Given the description of an element on the screen output the (x, y) to click on. 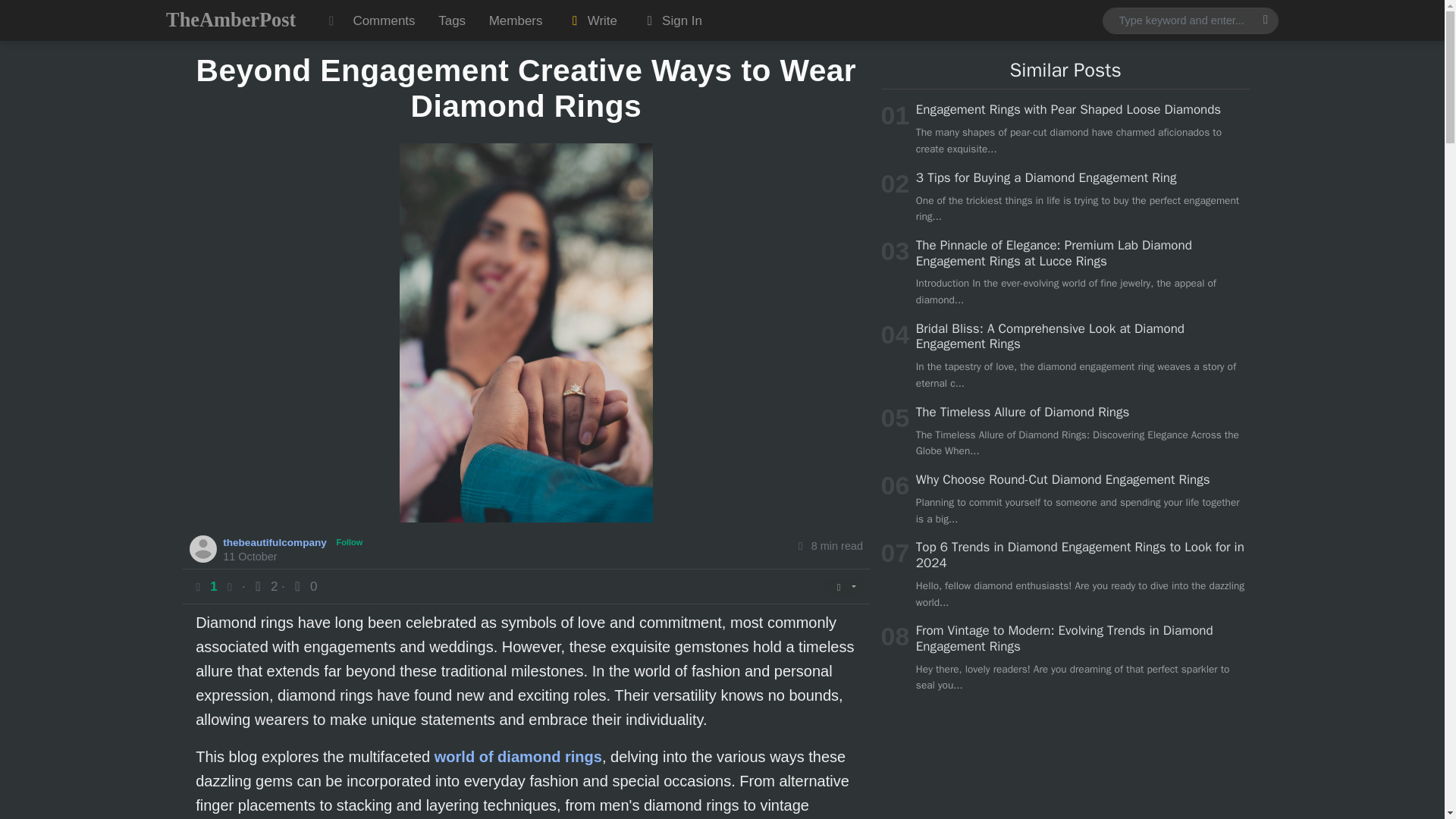
Follow (349, 542)
0 (302, 586)
1 (215, 586)
thebeautifulcompany (276, 541)
3 Tips for Buying a Diamond Engagement Ring (1045, 177)
The Timeless Allure of Diamond Rings (1022, 412)
TheAmberPost (230, 20)
Members (515, 20)
Sign In (670, 20)
Toggle dark mode (330, 20)
Write (591, 20)
Engagement Rings with Pear Shaped Loose Diamonds (1068, 109)
Tags (451, 20)
